Given the description of an element on the screen output the (x, y) to click on. 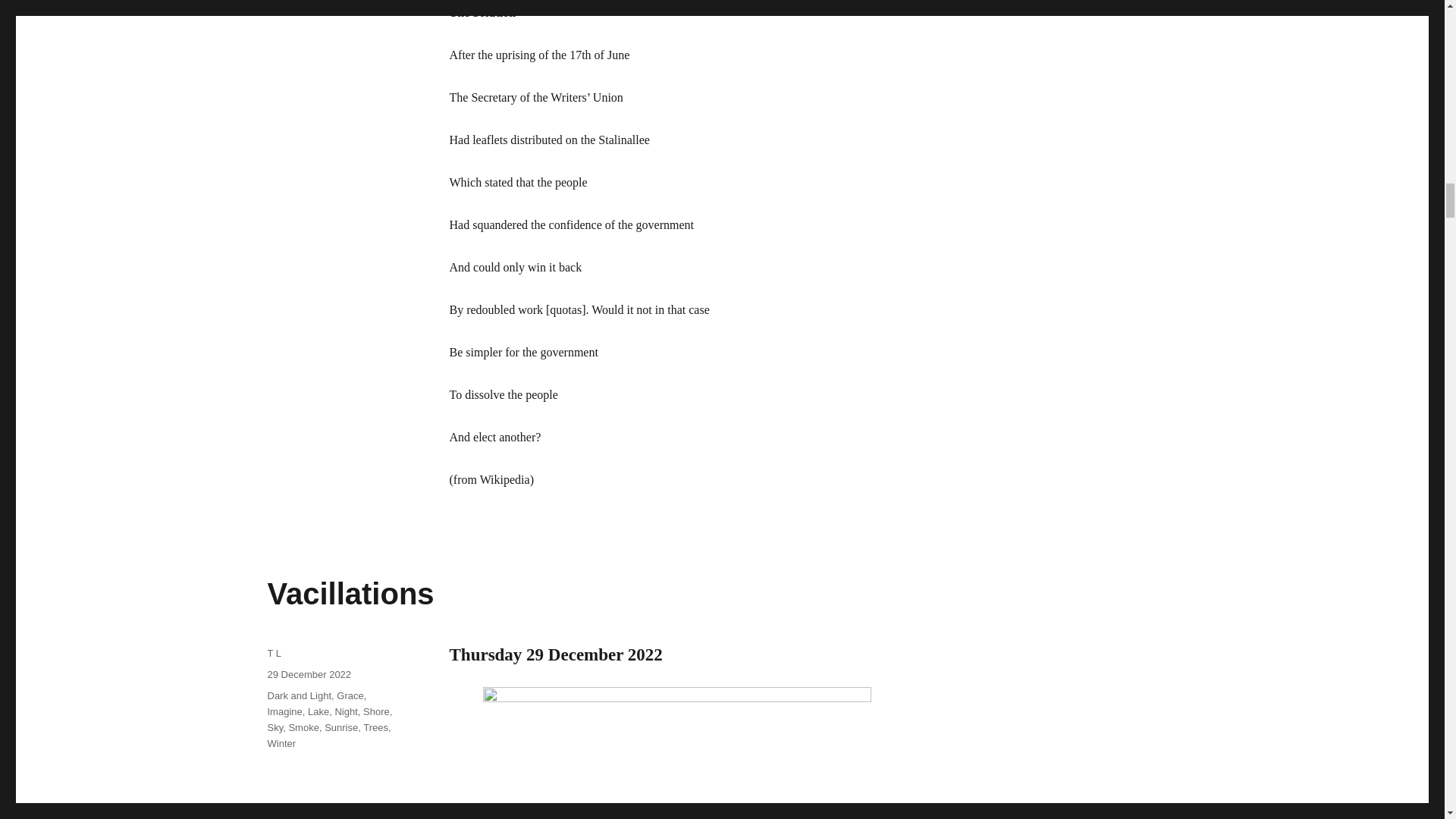
Sky (274, 727)
Sunrise (341, 727)
T L (273, 653)
Trees (375, 727)
Dark and Light (298, 695)
Grace (349, 695)
Shore (376, 711)
Night (345, 711)
Lake (318, 711)
29 December 2022 (308, 674)
Winter (280, 743)
Smoke (303, 727)
Imagine (283, 711)
Vacillations (349, 593)
